Given the description of an element on the screen output the (x, y) to click on. 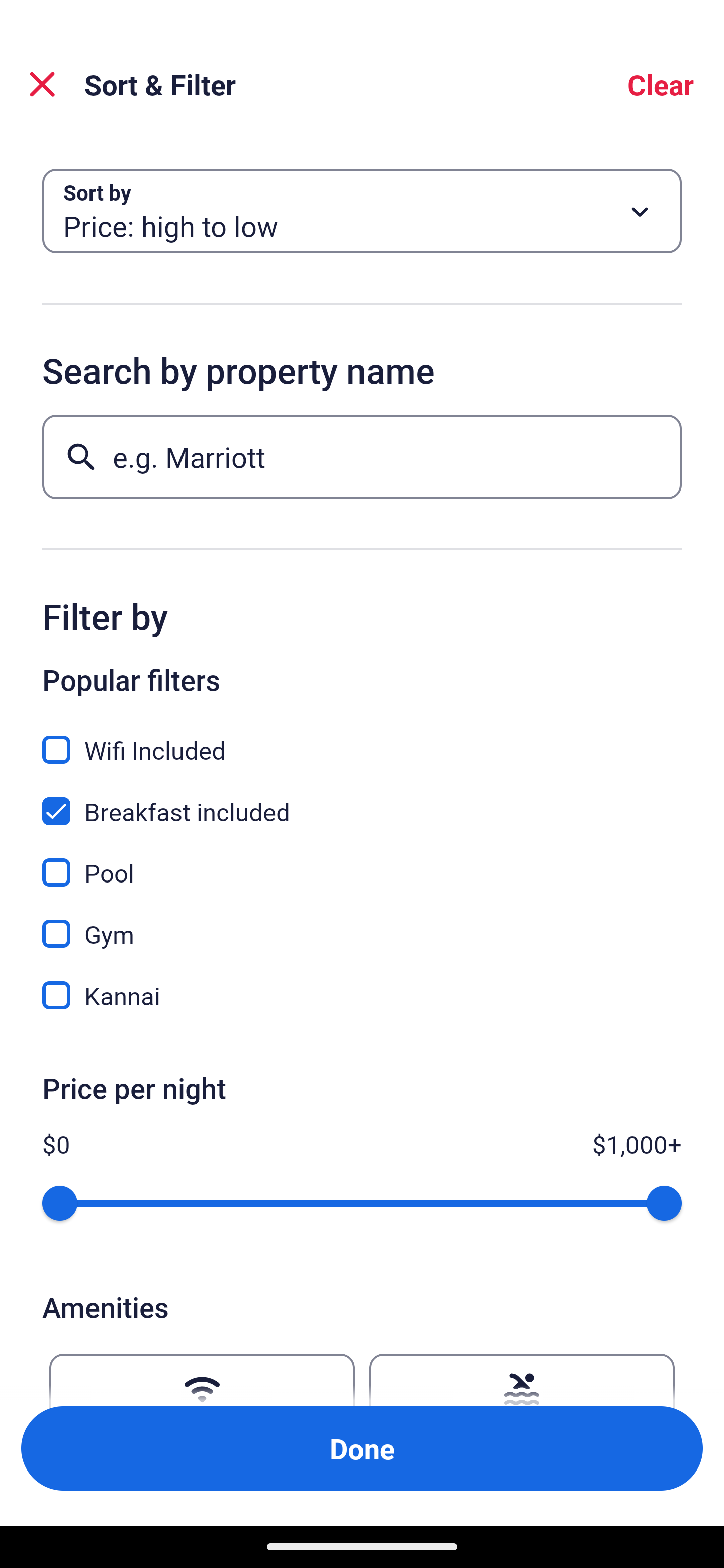
Close Sort and Filter (42, 84)
Clear (660, 84)
Sort by Button Price: high to low (361, 211)
e.g. Marriott Button (361, 455)
Wifi Included, Wifi Included (361, 738)
Breakfast included, Breakfast included (361, 800)
Pool, Pool (361, 861)
Gym, Gym (361, 922)
Kannai, Kannai (361, 995)
Apply and close Sort and Filter Done (361, 1448)
